Given the description of an element on the screen output the (x, y) to click on. 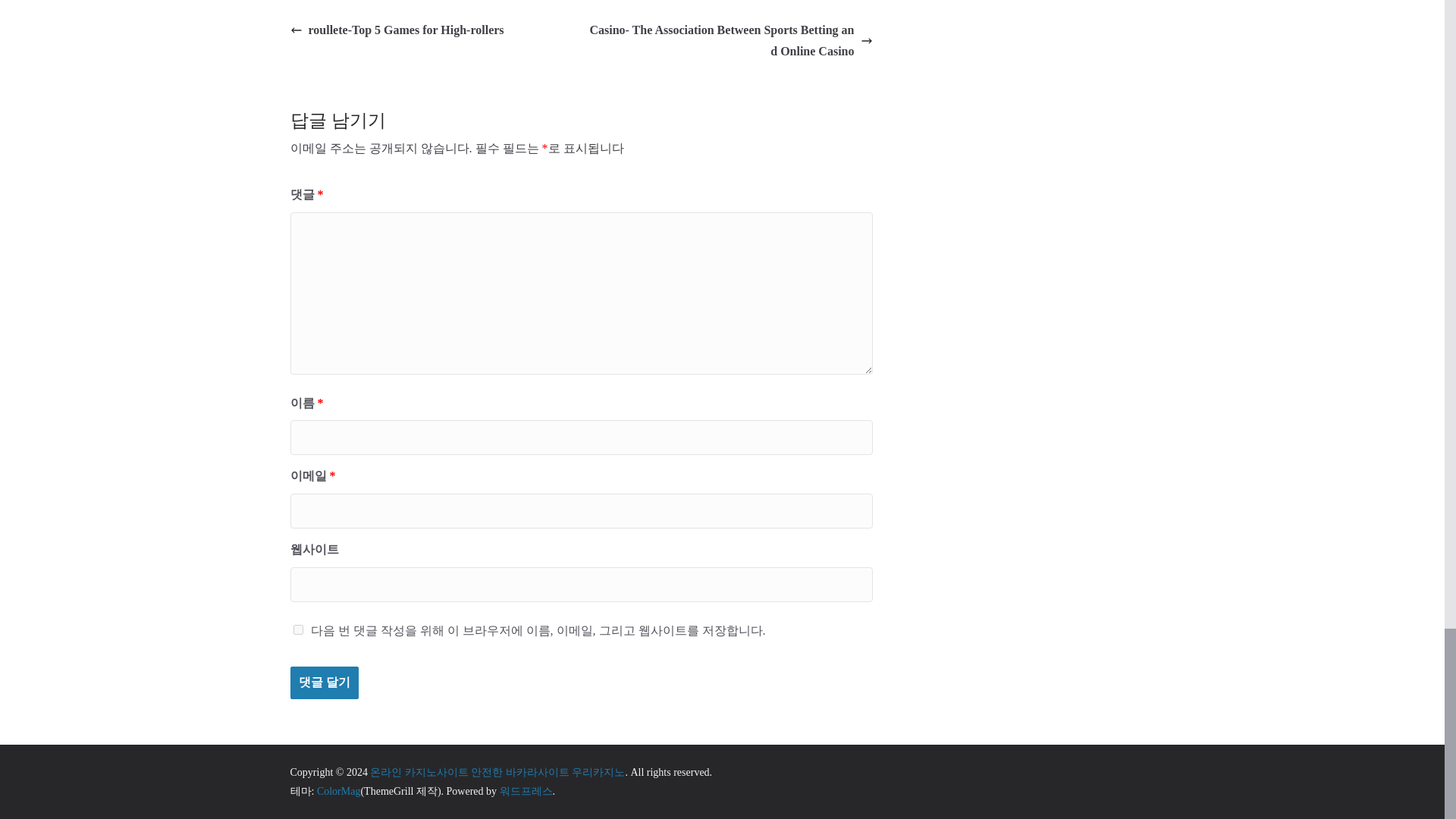
yes (297, 629)
ColorMag (339, 790)
ColorMag (339, 790)
roullete-Top 5 Games for High-rollers (396, 30)
